Given the description of an element on the screen output the (x, y) to click on. 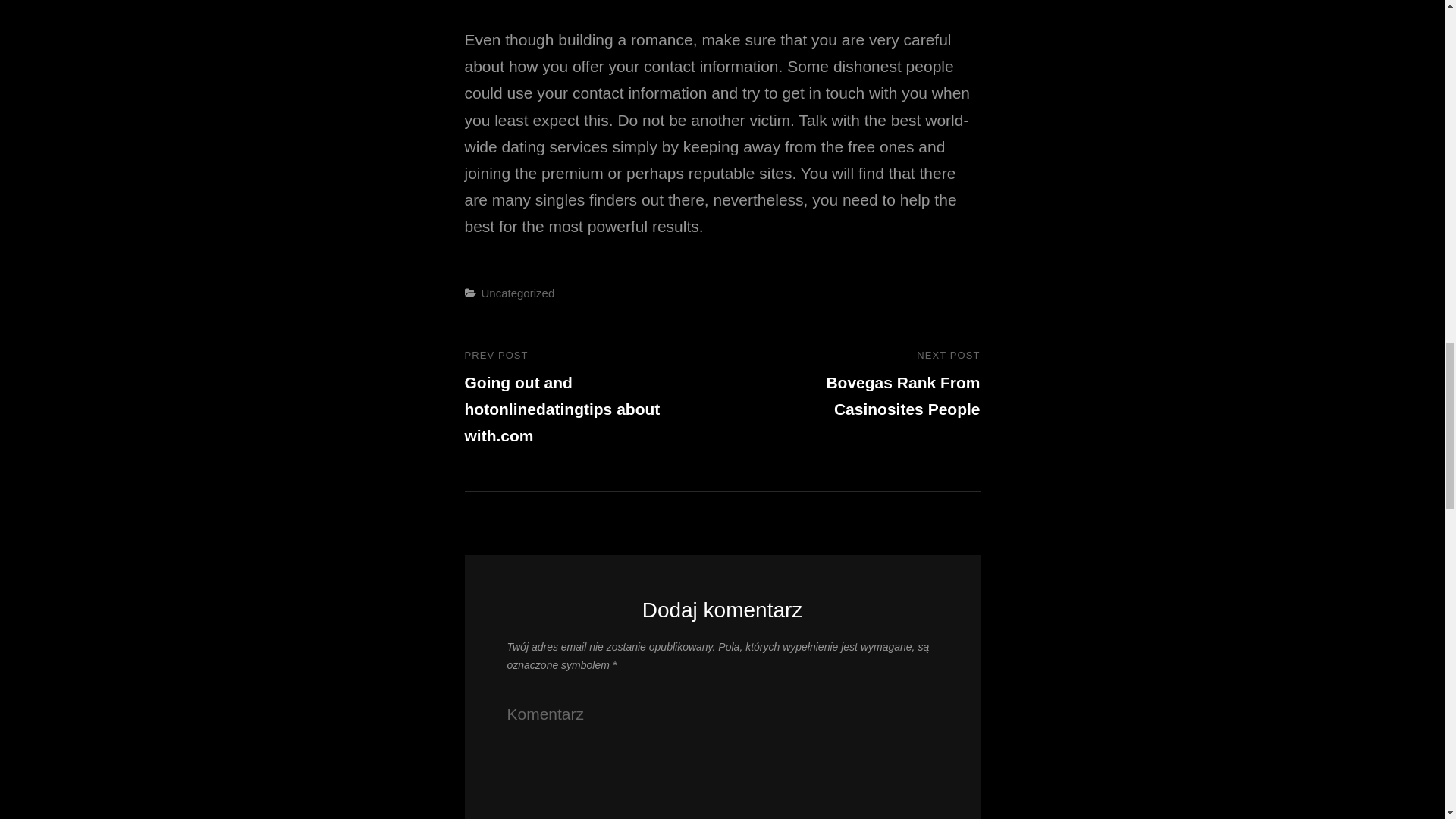
Uncategorized (517, 292)
